Given the description of an element on the screen output the (x, y) to click on. 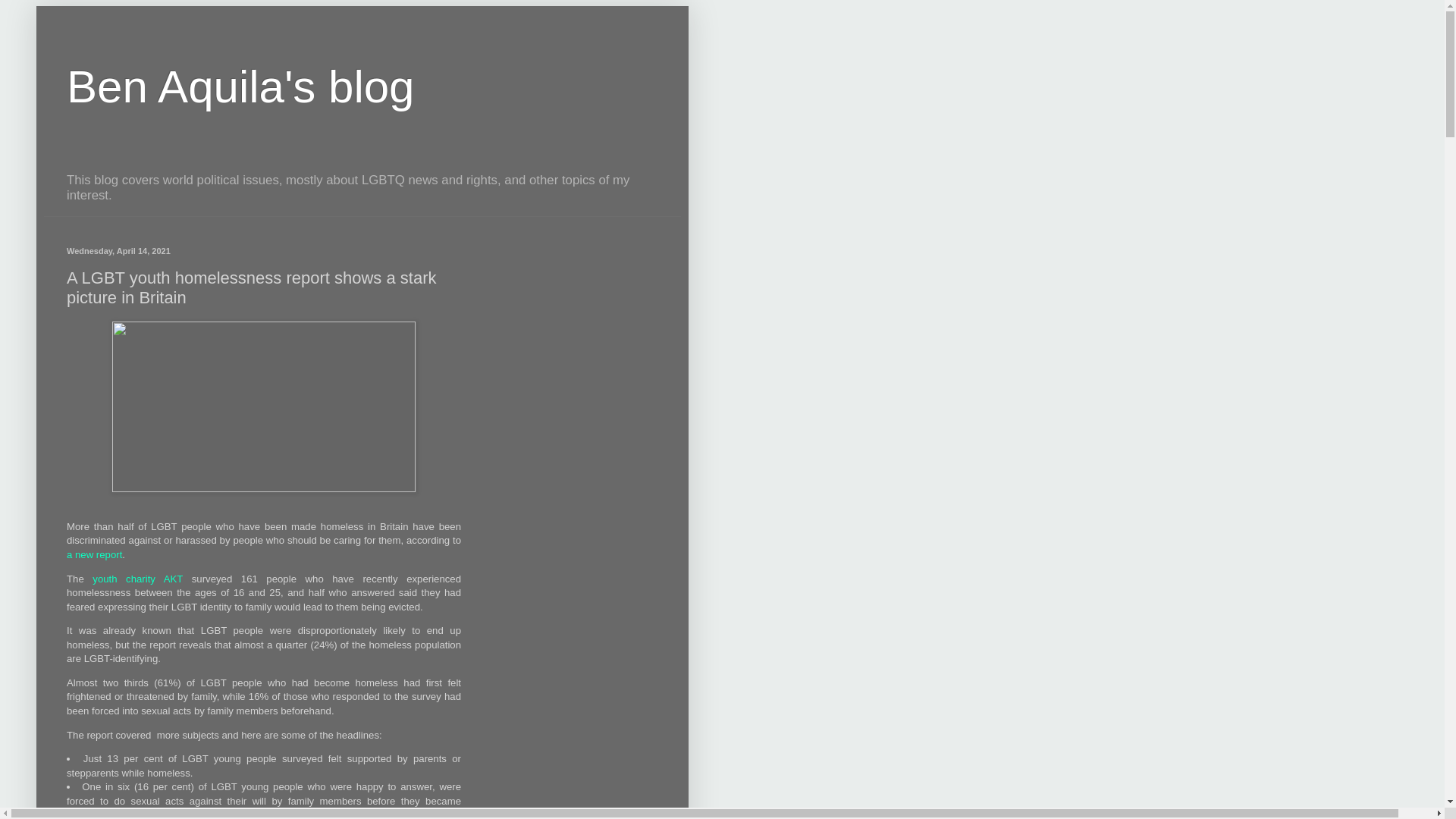
youth charity AKT (138, 578)
a new report (94, 554)
Ben Aquila's blog (239, 86)
